Given the description of an element on the screen output the (x, y) to click on. 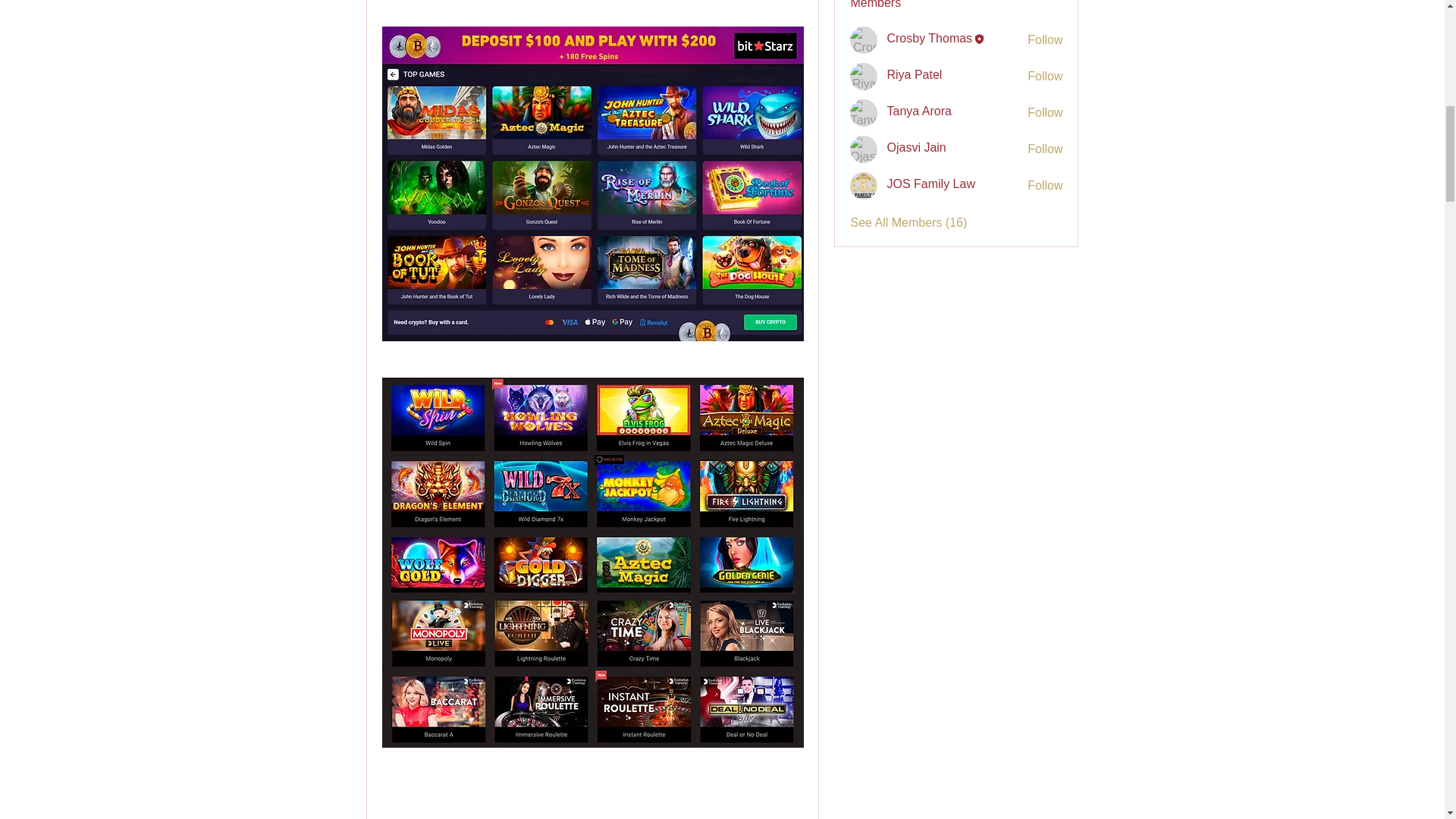
Riya Patel (863, 76)
Tanya Arora (863, 112)
Ojasvi Jain (863, 148)
Crosby Thomas (863, 40)
JOS Family Law (863, 185)
